Given the description of an element on the screen output the (x, y) to click on. 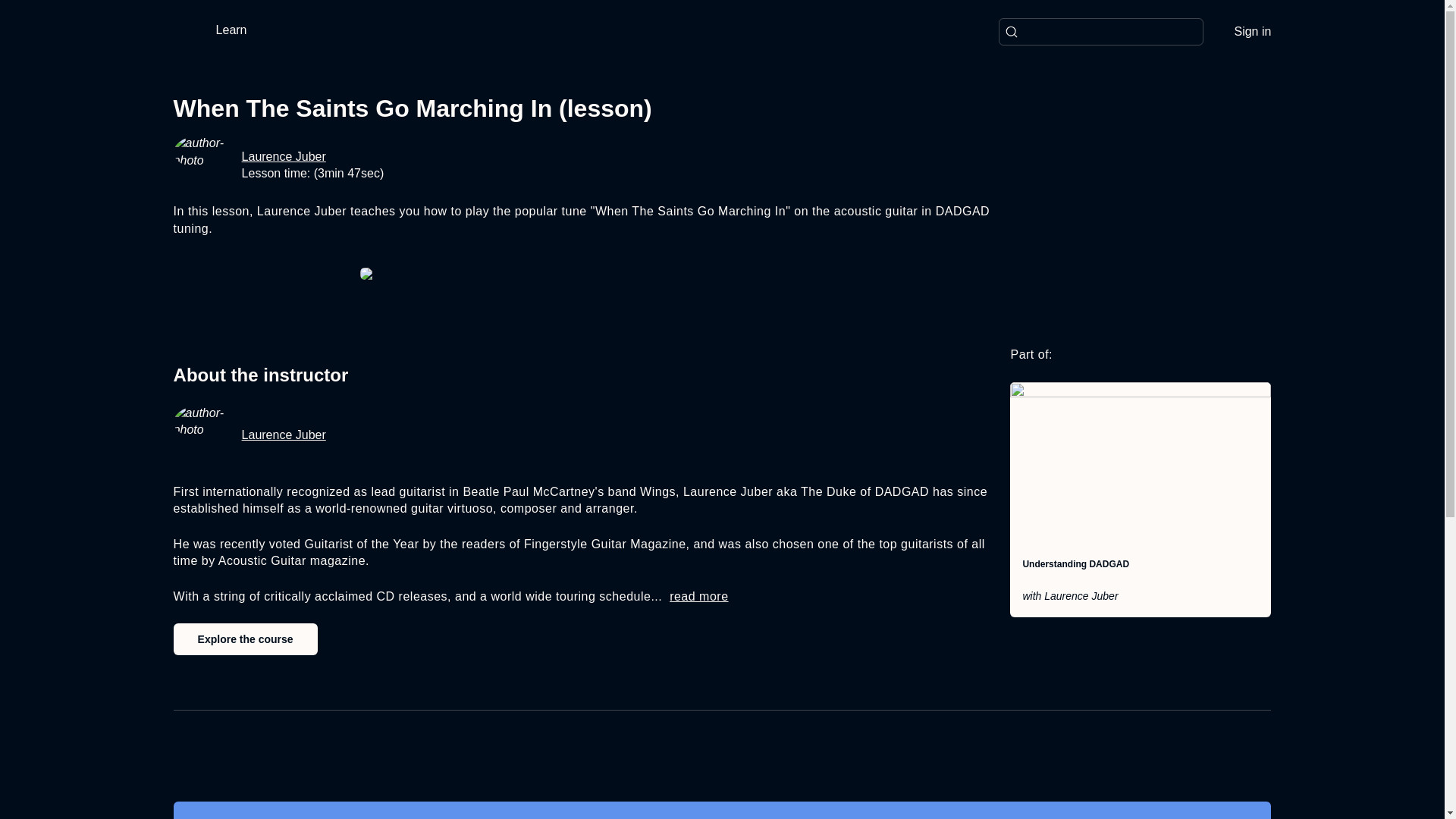
Laurence Juber (283, 434)
Sign in (1252, 31)
Learn (238, 29)
Laurence Juber (283, 156)
Explore the course (245, 639)
read more (698, 595)
Understanding DADGAD (1075, 563)
